Given the description of an element on the screen output the (x, y) to click on. 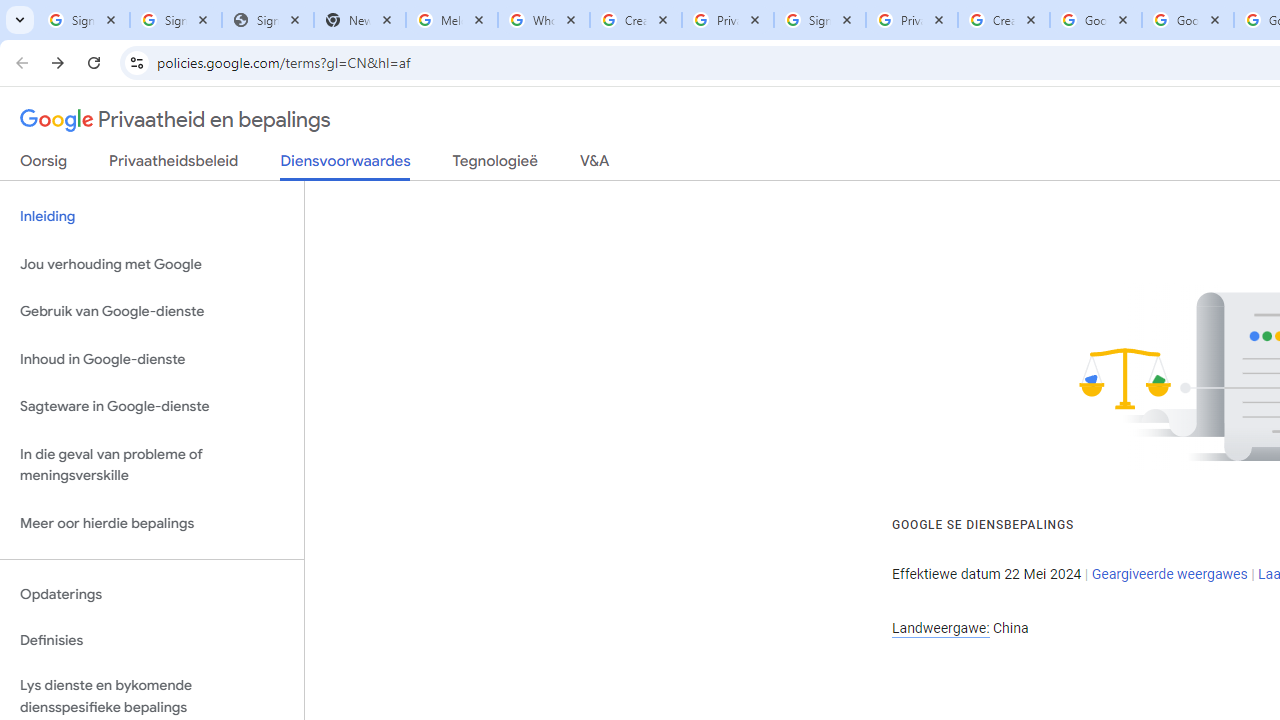
V&A (594, 165)
Geargiveerde weergawes (1169, 574)
Oorsig (43, 165)
Inleiding (152, 216)
